Given the description of an element on the screen output the (x, y) to click on. 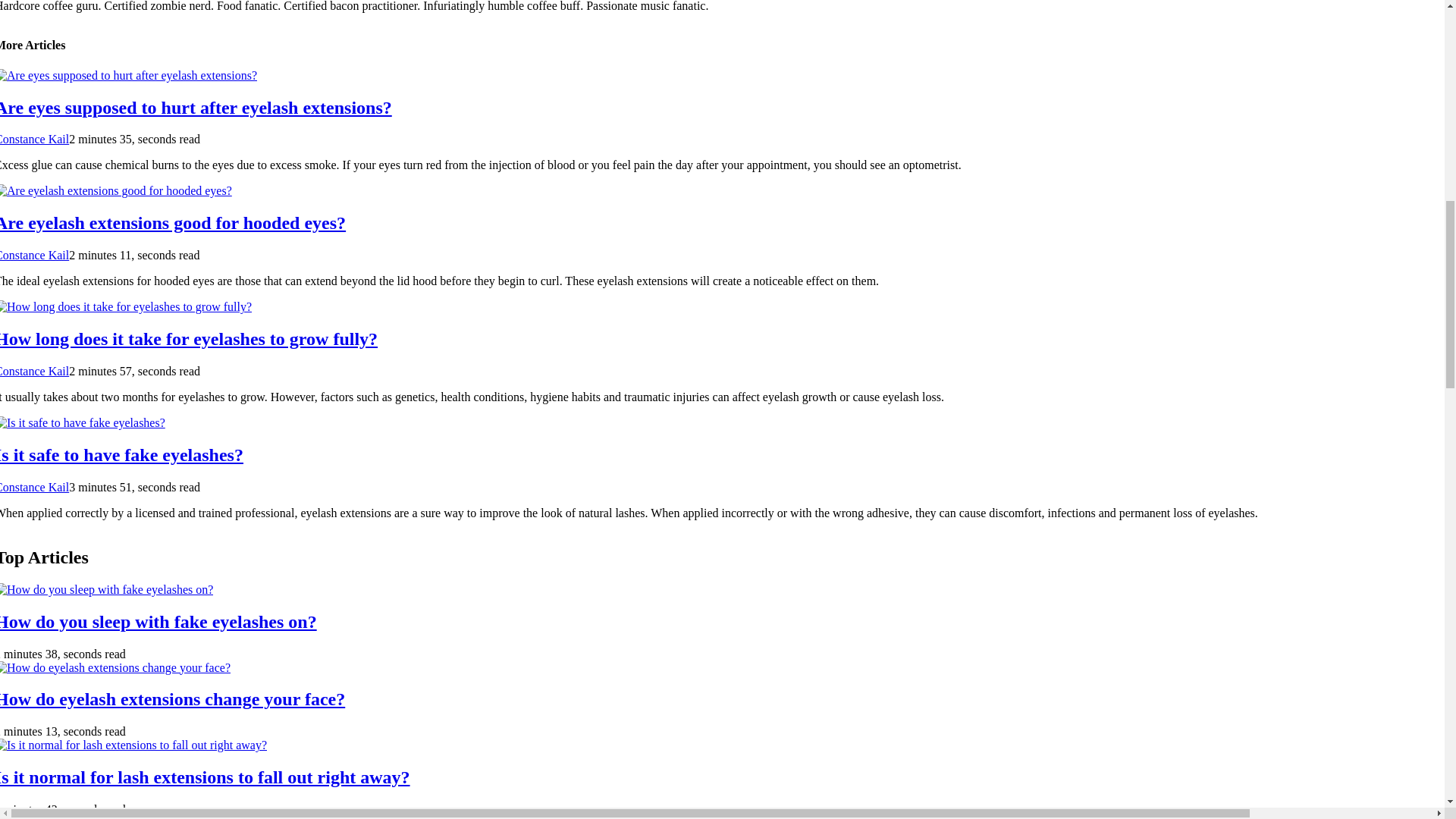
Are eyes supposed to hurt after eyelash extensions? (195, 107)
How long does it take for eyelashes to grow fully? (188, 338)
Posts by Constance Kail (34, 370)
Posts by Constance Kail (34, 138)
Are eyelash extensions good for hooded eyes? (173, 222)
Posts by Constance Kail (34, 254)
How do eyelash extensions change your face? (172, 699)
Posts by Constance Kail (34, 486)
Constance Kail (34, 138)
Is it safe to have fake eyelashes? (121, 455)
